Given the description of an element on the screen output the (x, y) to click on. 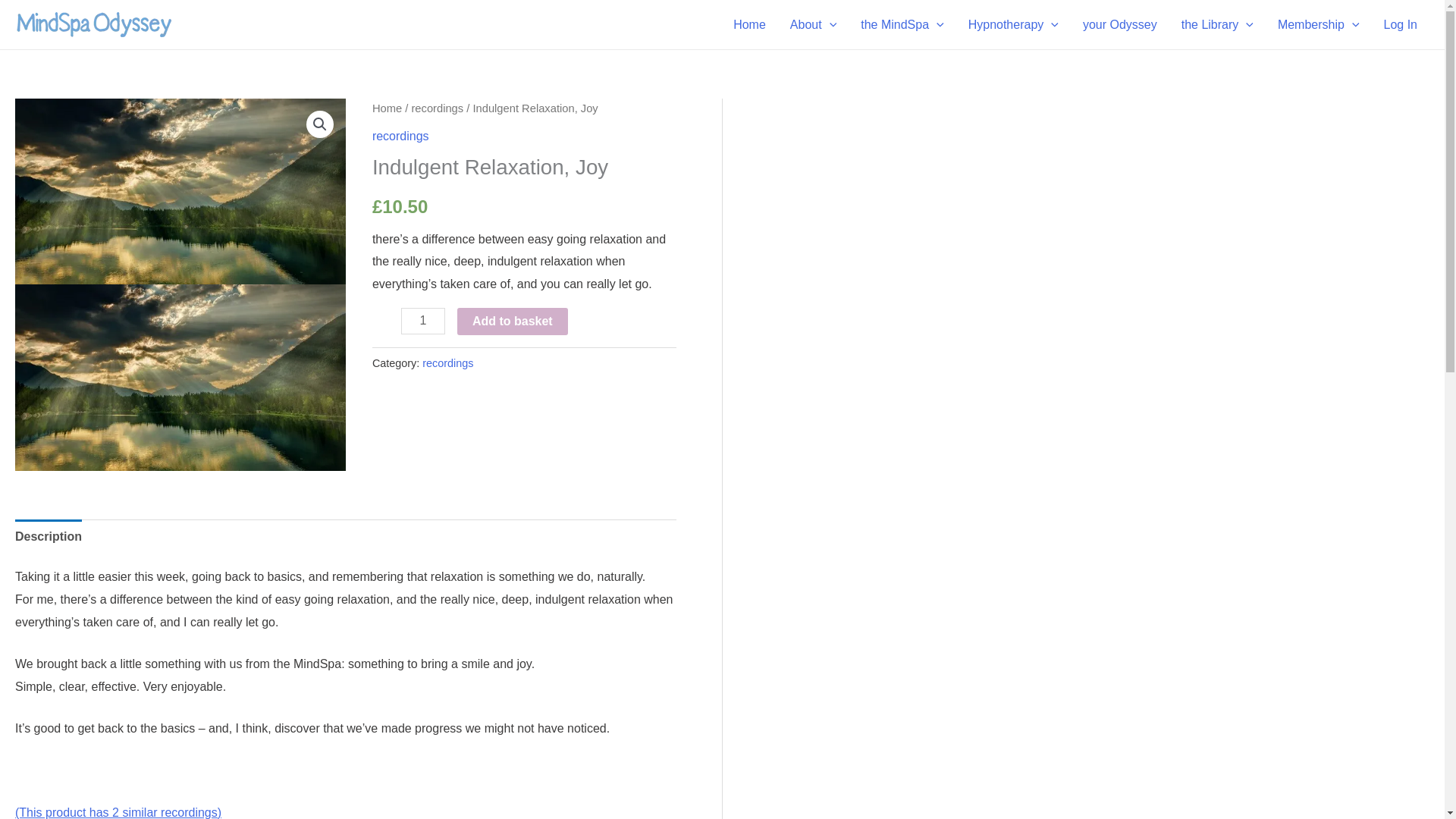
Home (748, 24)
pexels-johannes-plenio-1126379 (180, 377)
Membership (1318, 24)
the MindSpa (901, 24)
the Library (1217, 24)
1 (423, 320)
your Odyssey (1119, 24)
pexels-johannes-plenio-1126379 (180, 191)
Hypnotherapy (1013, 24)
About (812, 24)
